Given the description of an element on the screen output the (x, y) to click on. 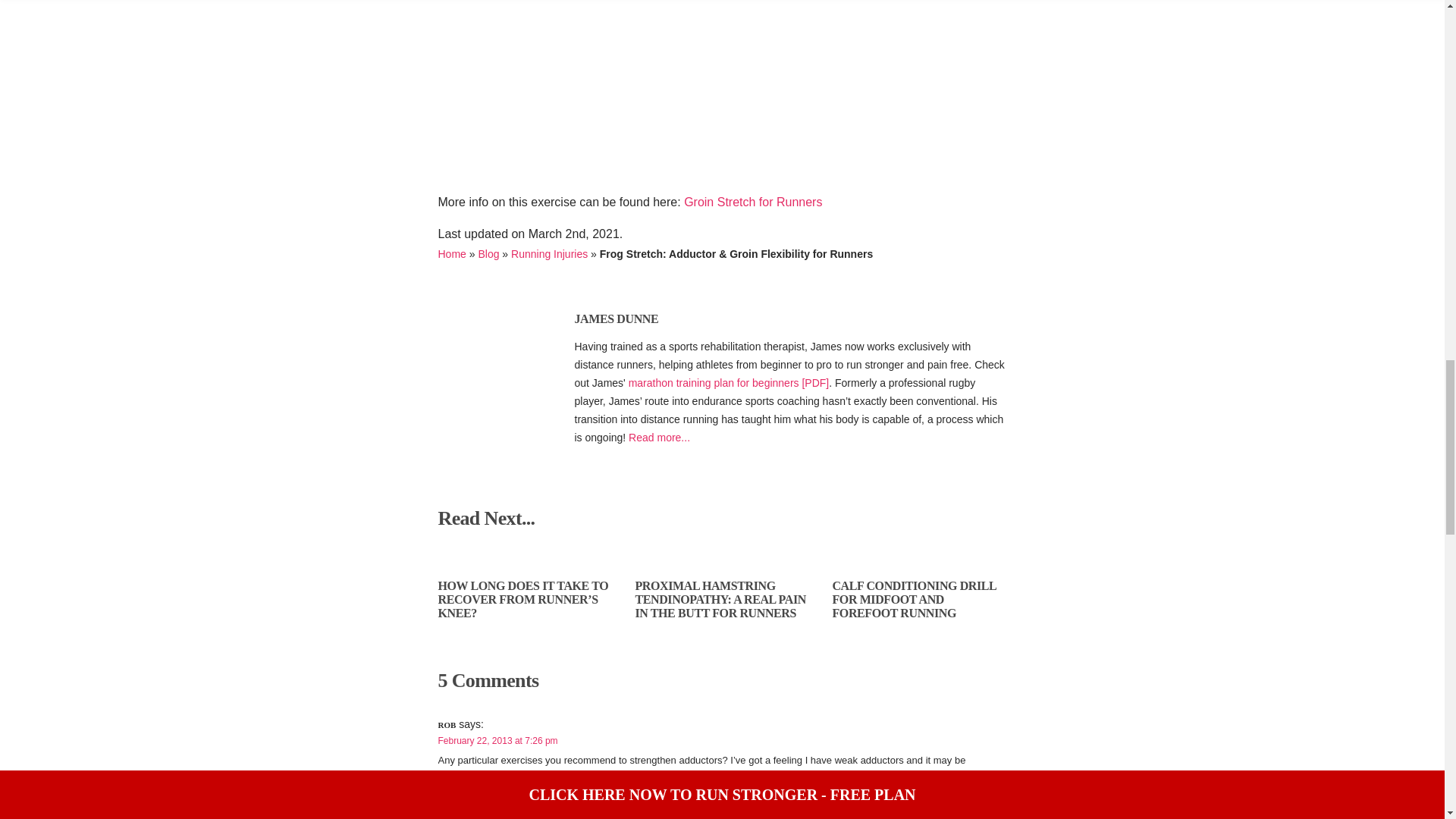
Home (451, 254)
Blog (488, 254)
CALF CONDITIONING DRILL FOR MIDFOOT AND FOREFOOT RUNNING (913, 599)
Running Injuries (549, 254)
Calf Conditioning Drill for Midfoot and Forefoot Running (913, 599)
February 22, 2013 at 7:26 pm (497, 740)
Read more... (659, 437)
Groin Stretch for Runners (753, 201)
